Given the description of an element on the screen output the (x, y) to click on. 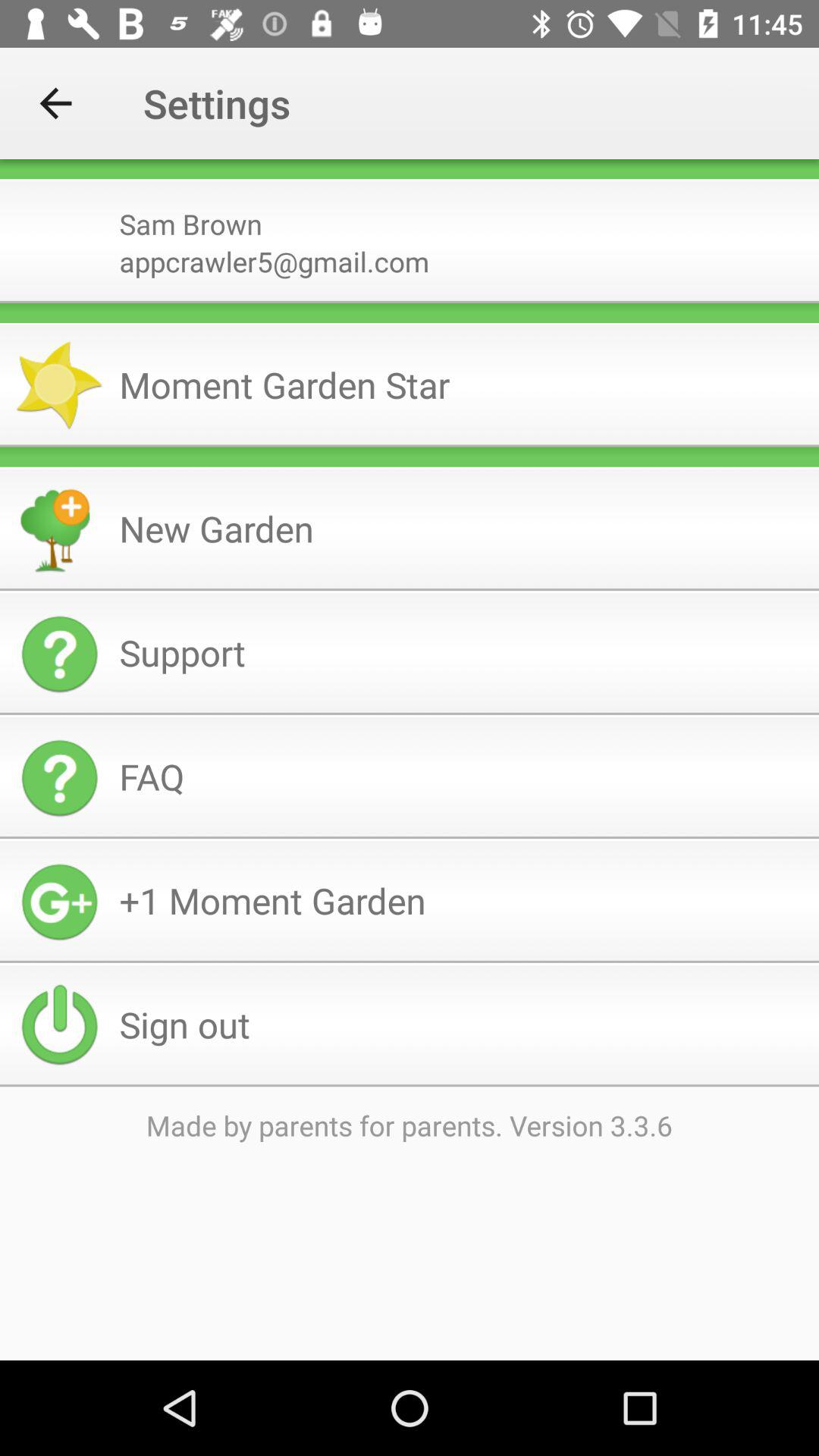
turn on item above the    icon (409, 301)
